Given the description of an element on the screen output the (x, y) to click on. 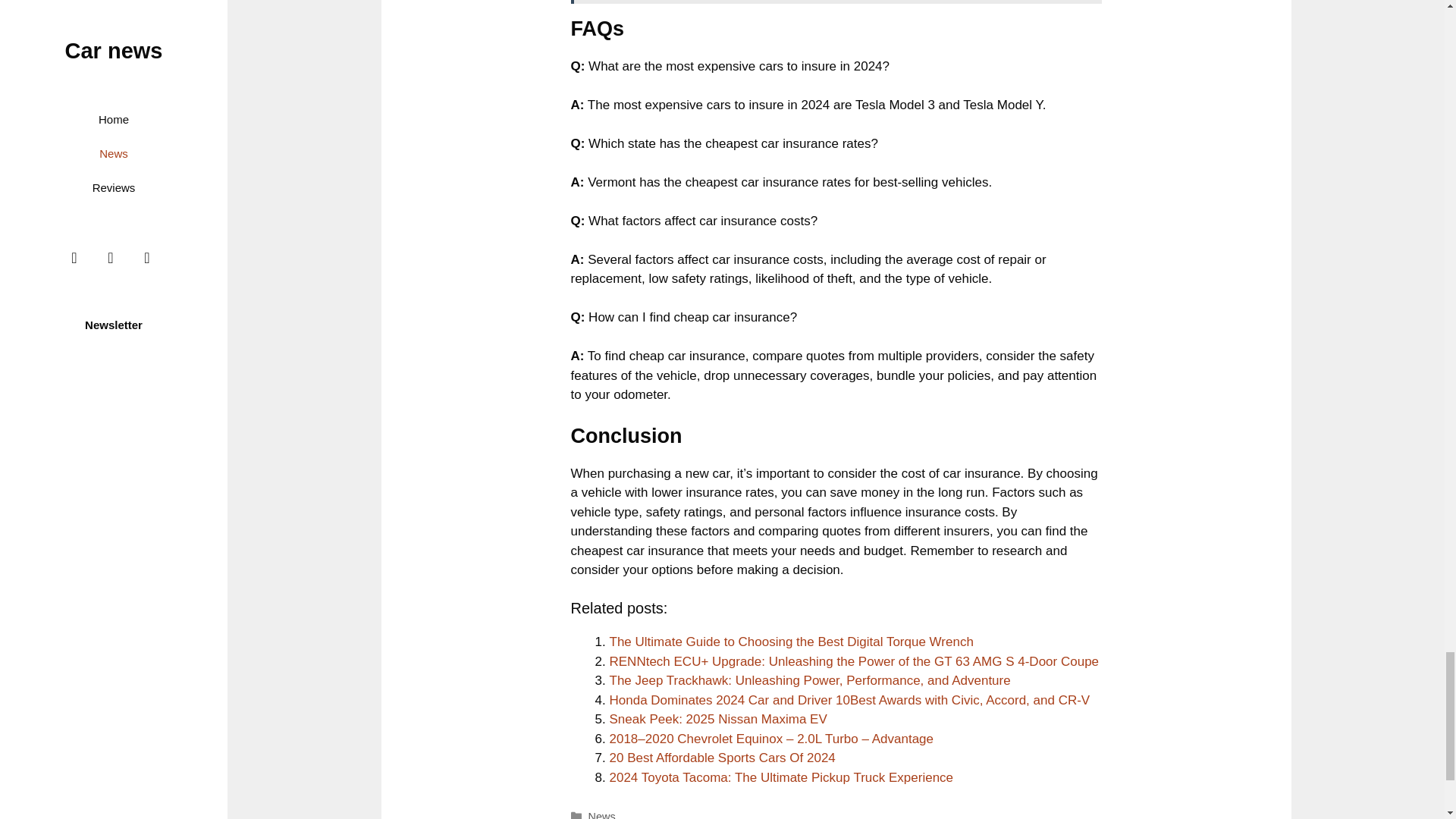
News (601, 814)
2024 Toyota Tacoma: The Ultimate Pickup Truck Experience (781, 777)
Sneak Peek: 2025 Nissan Maxima EV (718, 718)
20 Best Affordable Sports Cars Of 2024 (722, 757)
